Given the description of an element on the screen output the (x, y) to click on. 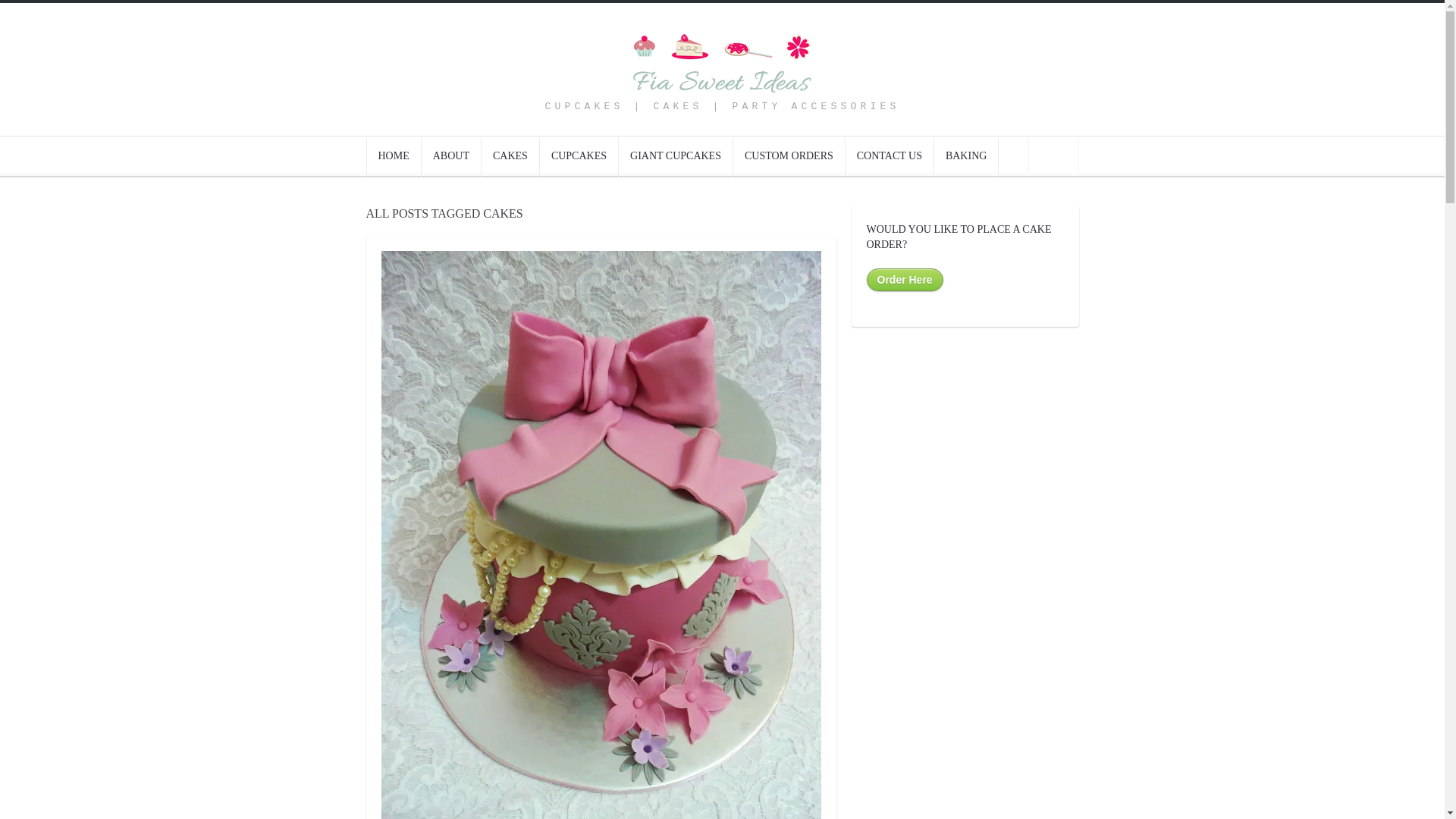
CONTACT US (889, 156)
CUPCAKES (579, 156)
ABOUT (451, 156)
CAKES (510, 156)
CUSTOM ORDERS (789, 156)
GIANT CUPCAKES (675, 156)
BAKING (966, 156)
HOME (392, 156)
Baking Info (966, 156)
